Given the description of an element on the screen output the (x, y) to click on. 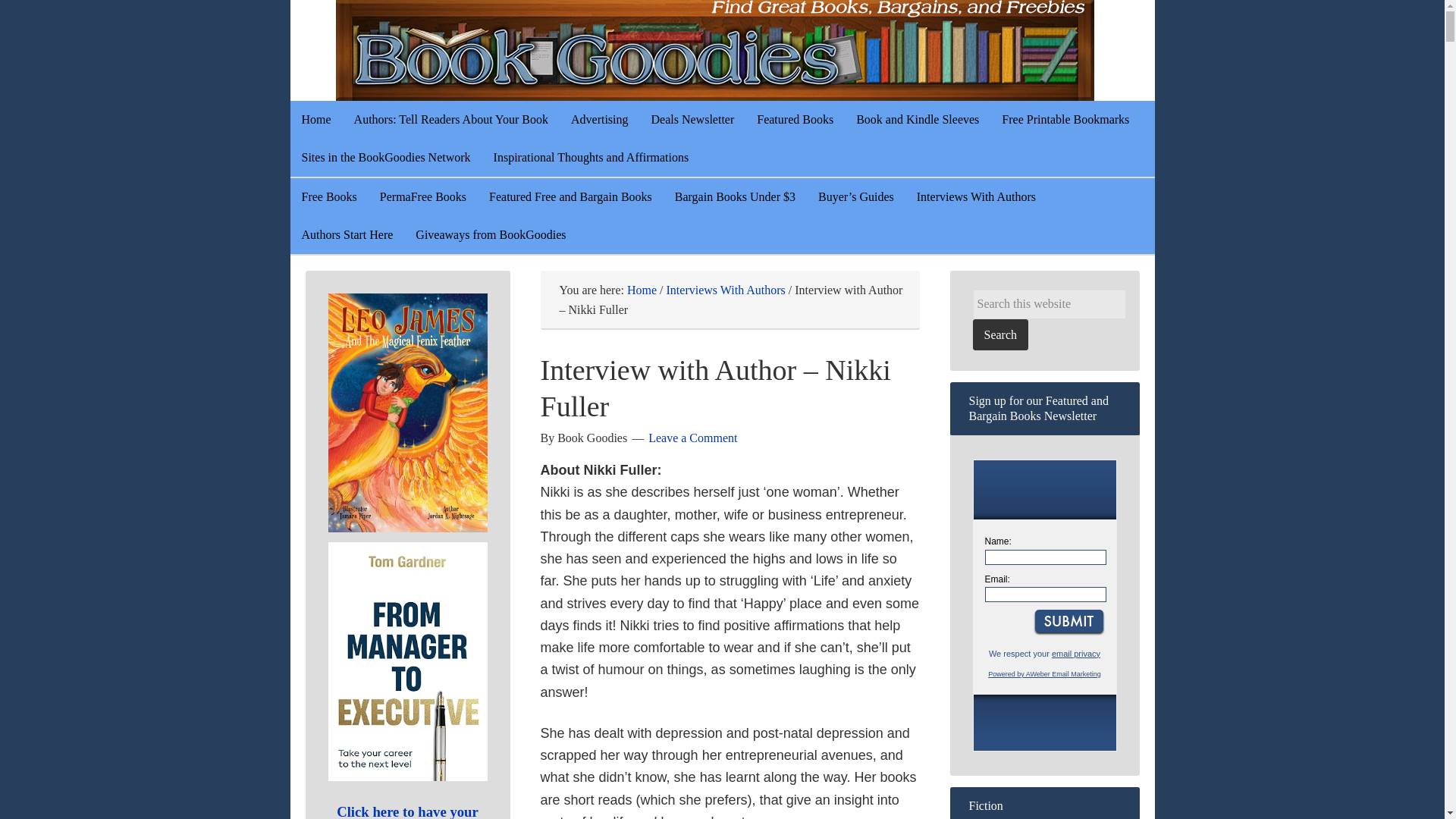
Book and Kindle Sleeves (917, 119)
Home (315, 119)
Search (999, 334)
AWeber Email Marketing (1044, 674)
Deals Newsletter (692, 119)
Book Goodies (751, 50)
Home (641, 289)
Sites in the BookGoodies Network (385, 157)
Free Books (328, 197)
Interviews With Authors (975, 197)
Advertising (599, 119)
From Manager To Executive by Tom Gardner (406, 661)
Featured Books (794, 119)
PermaFree Books (422, 197)
Authors Start Here (346, 234)
